Given the description of an element on the screen output the (x, y) to click on. 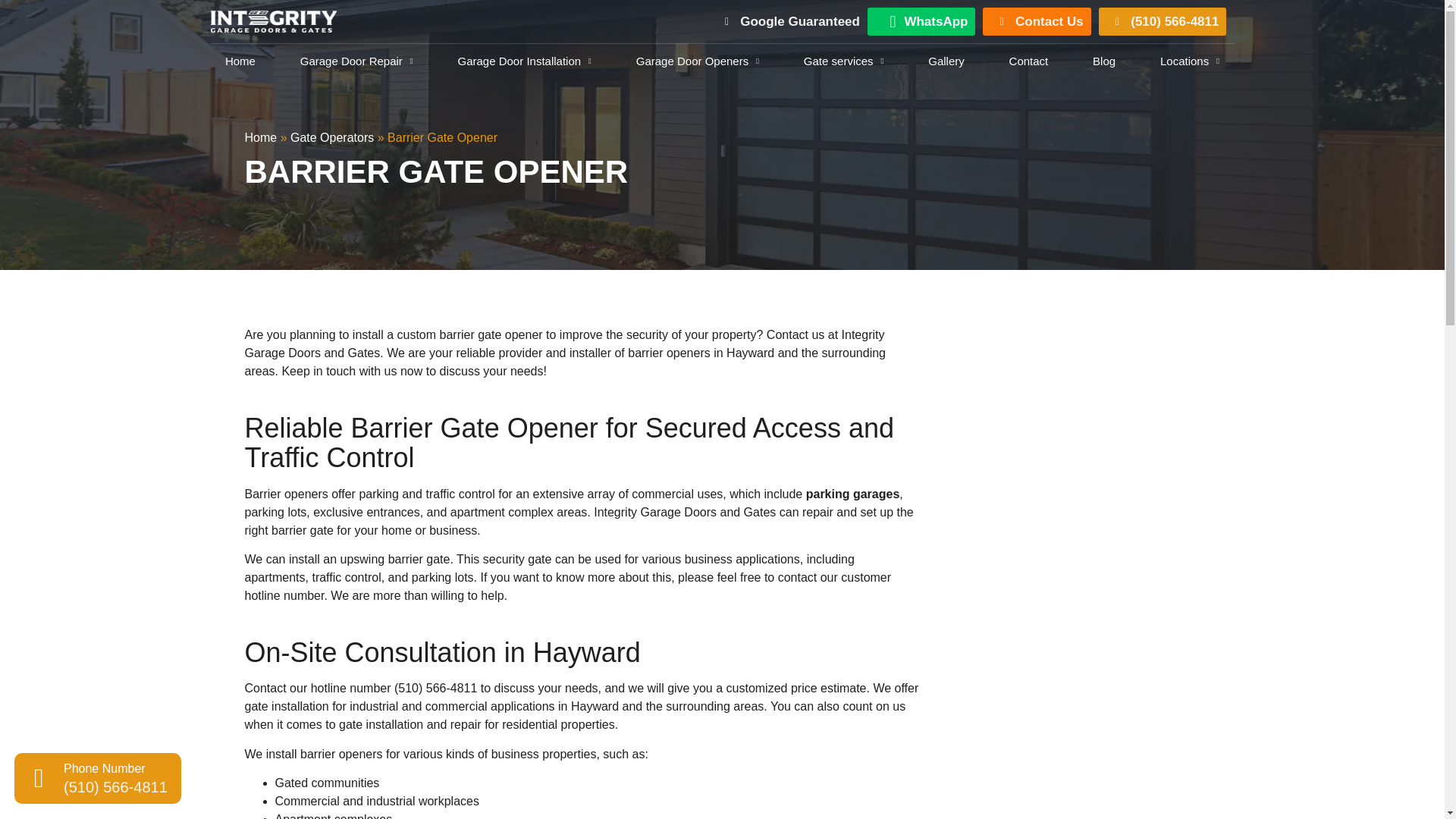
Garage Door Repair (356, 61)
Home (240, 61)
Garage Door Installation (523, 61)
Contact Us (1036, 21)
WhatsApp (921, 21)
